Given the description of an element on the screen output the (x, y) to click on. 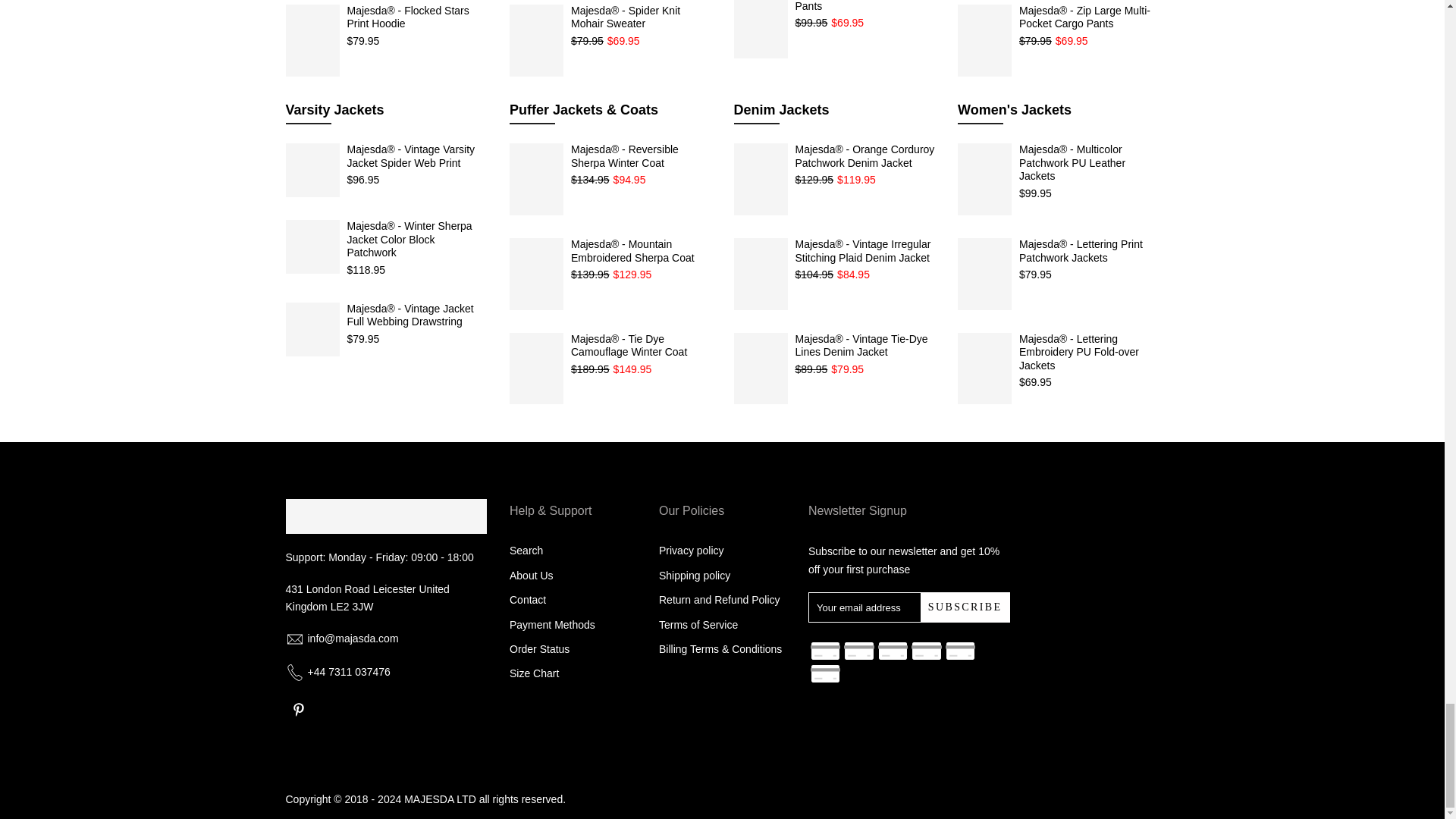
Follow on Pinterest (298, 709)
